Given the description of an element on the screen output the (x, y) to click on. 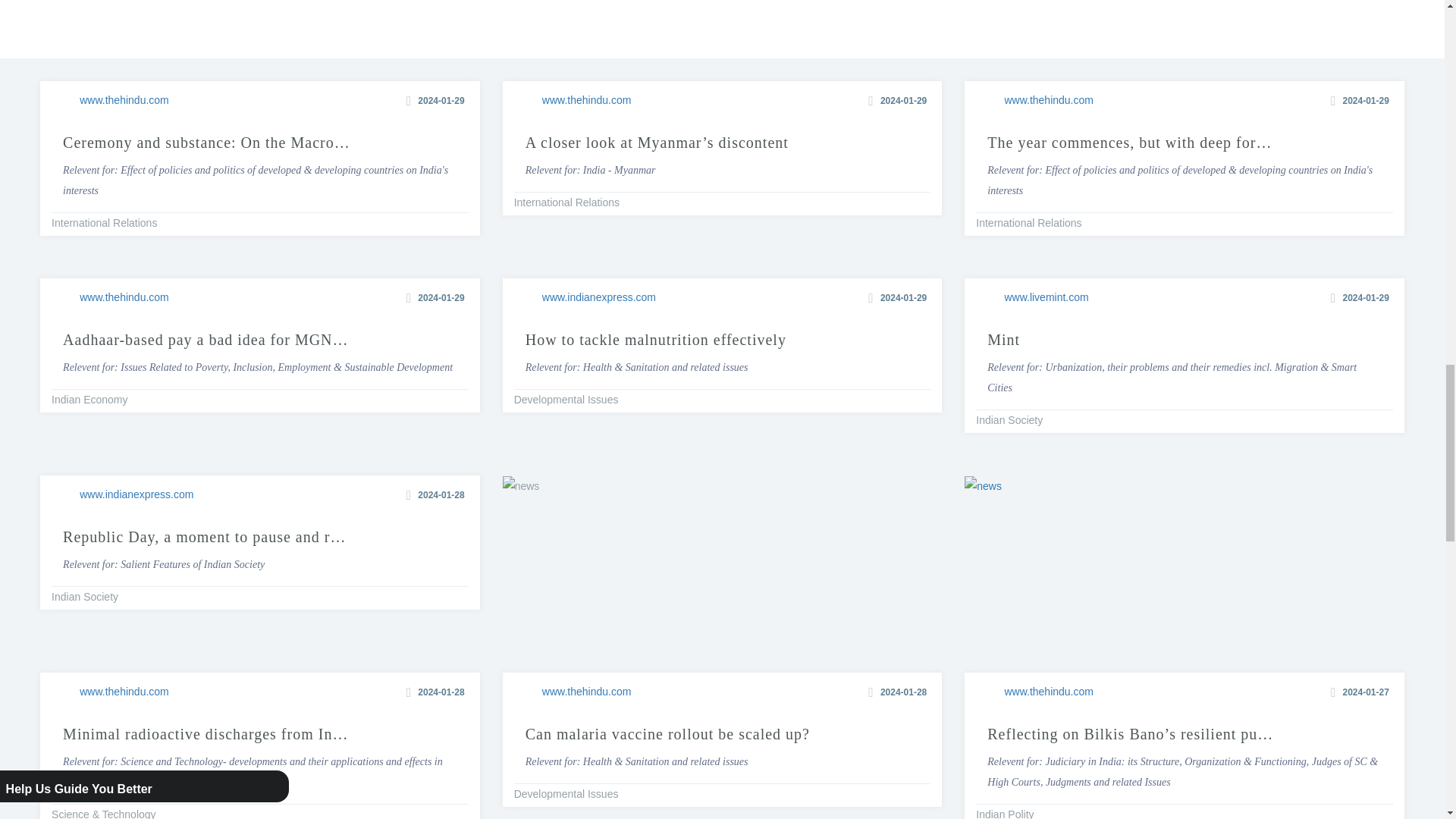
Aadhaar-based pay a bad idea for MGNREGS (260, 85)
The year commences, but with deep foreboding (722, 282)
Relevent for: India - Myanmar (1184, 85)
